Given the description of an element on the screen output the (x, y) to click on. 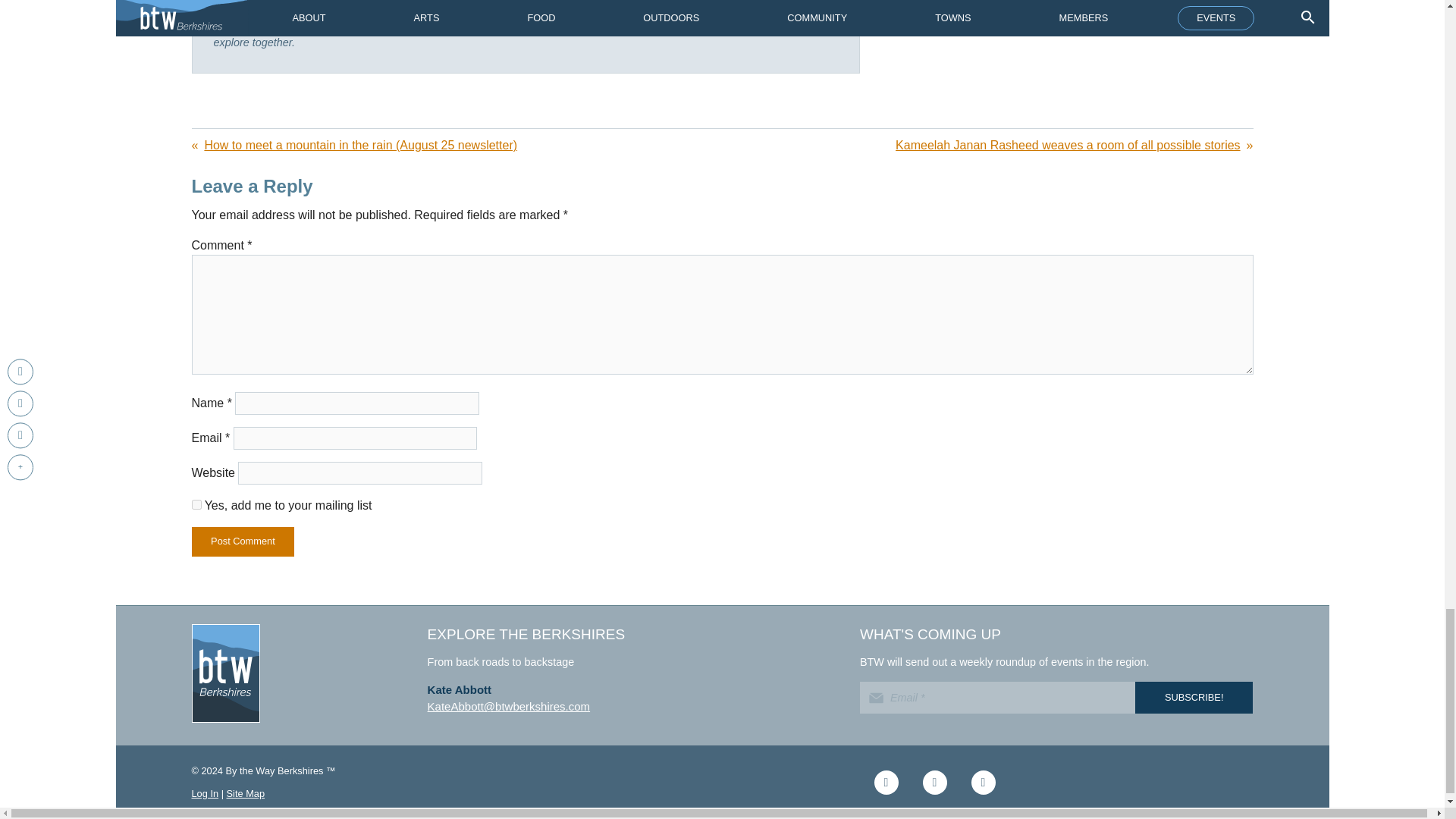
Instagram (933, 782)
Post Comment (242, 541)
Patreon (982, 782)
Email (997, 697)
Subscribe! (1194, 697)
Facebook (885, 782)
1 (195, 504)
